Given the description of an element on the screen output the (x, y) to click on. 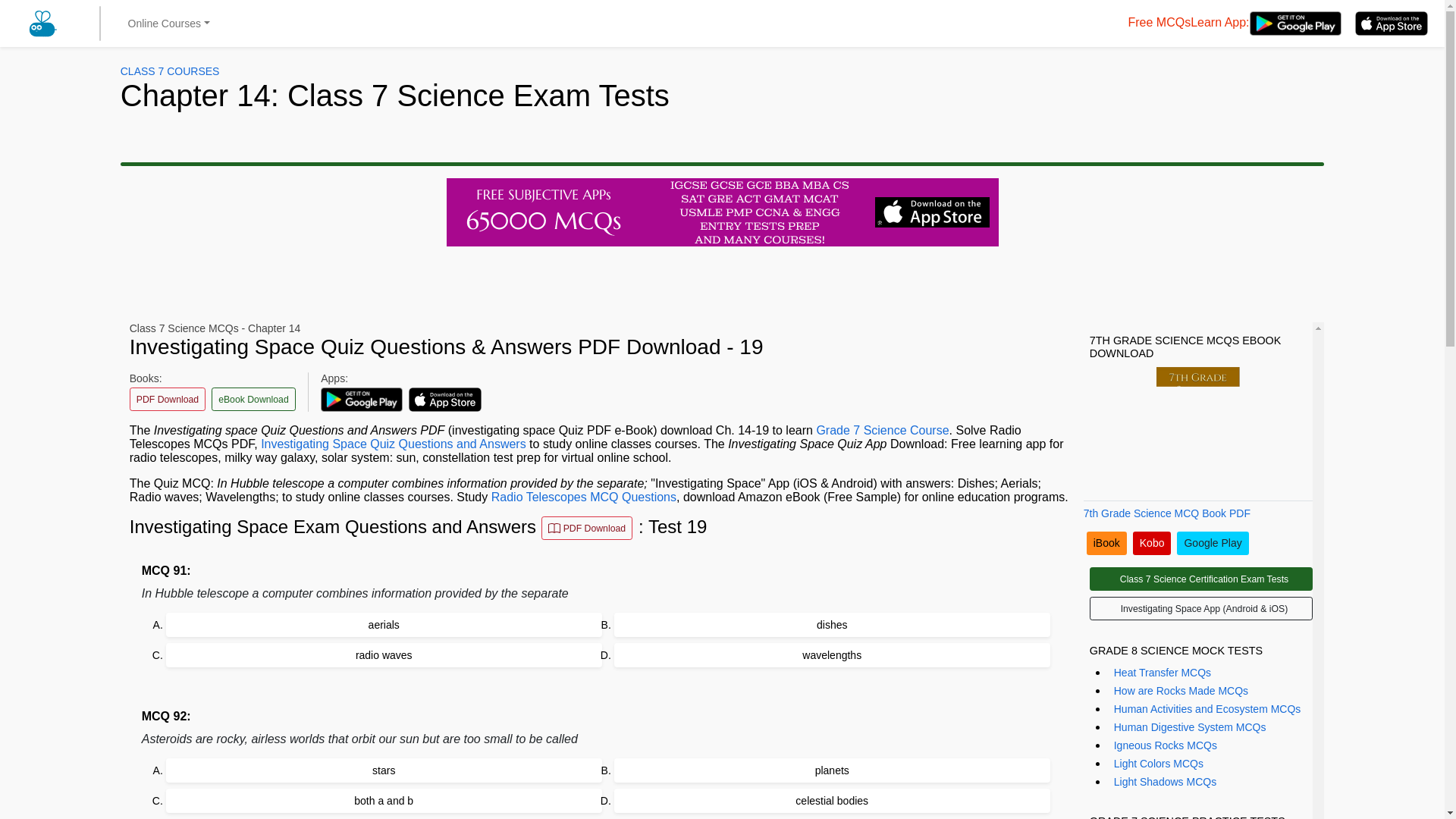
Online Courses (168, 24)
